Given the description of an element on the screen output the (x, y) to click on. 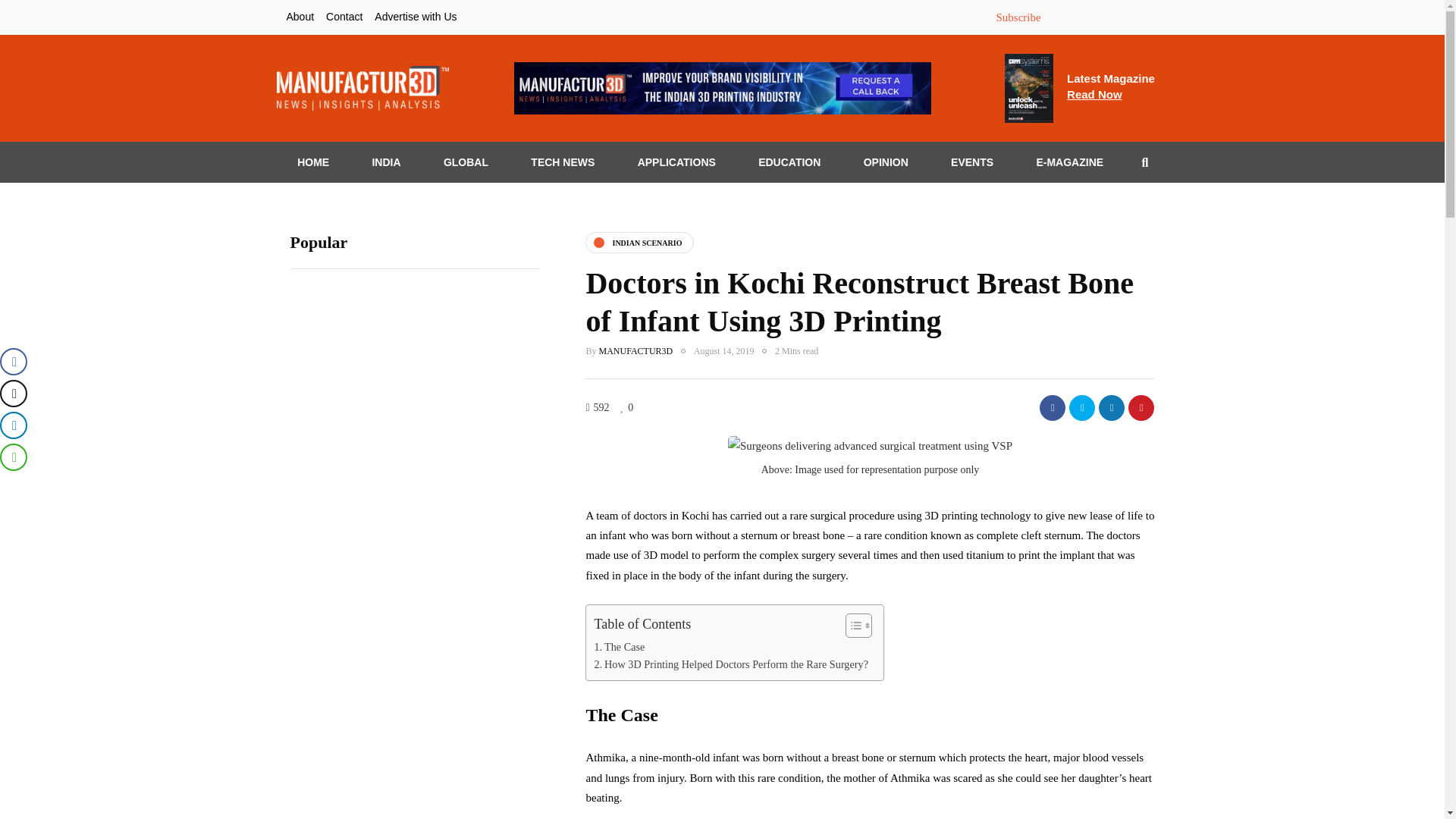
About (300, 16)
Share with LinkedIn (1111, 407)
Subscribe (1018, 17)
HOME (312, 161)
TECH NEWS (562, 161)
OPINION (885, 161)
The Case (619, 647)
EVENTS (971, 161)
EDUCATION (789, 161)
GLOBAL (465, 161)
